Given the description of an element on the screen output the (x, y) to click on. 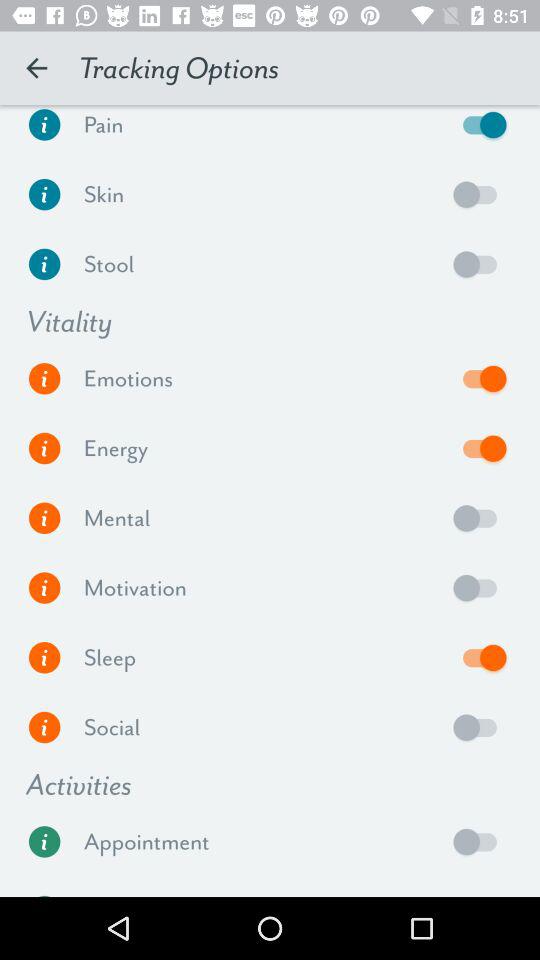
provides information (44, 378)
